Given the description of an element on the screen output the (x, y) to click on. 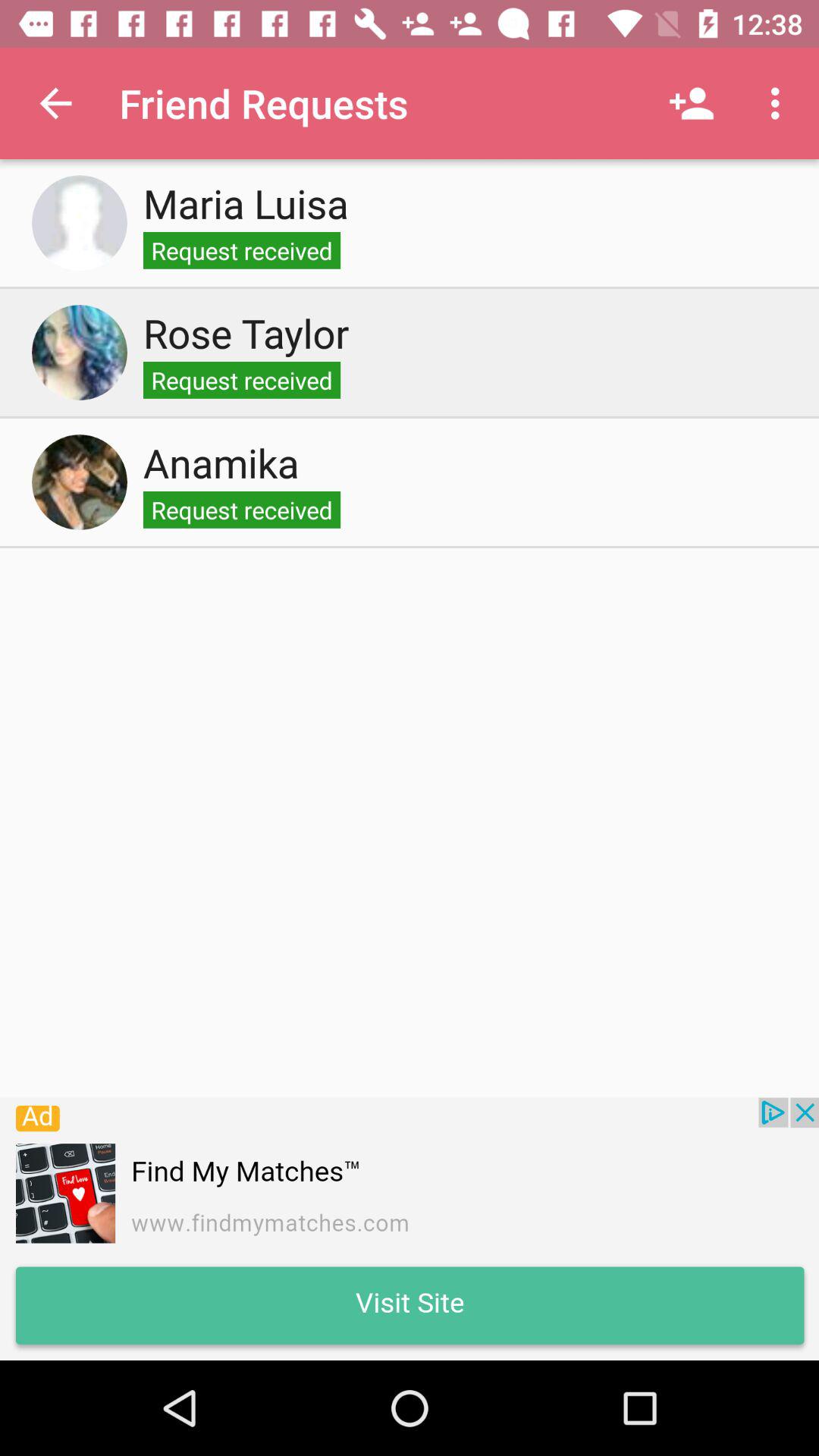
select anamika (79, 482)
